Given the description of an element on the screen output the (x, y) to click on. 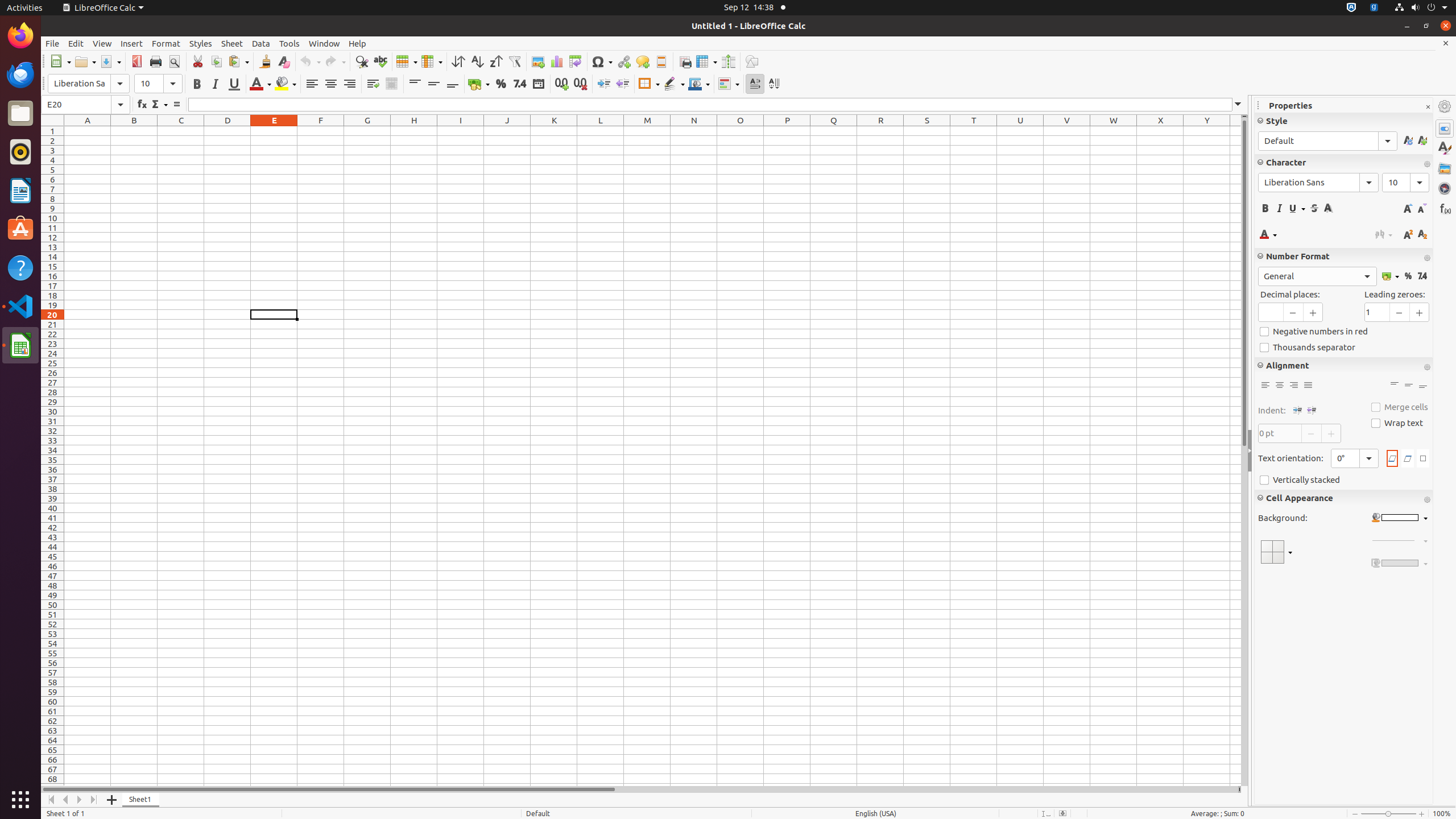
Percent Element type: toggle-button (1407, 275)
Print Element type: push-button (155, 61)
Styles Element type: menu (200, 43)
Conditional Element type: push-button (728, 83)
System Element type: menu (1420, 7)
